Given the description of an element on the screen output the (x, y) to click on. 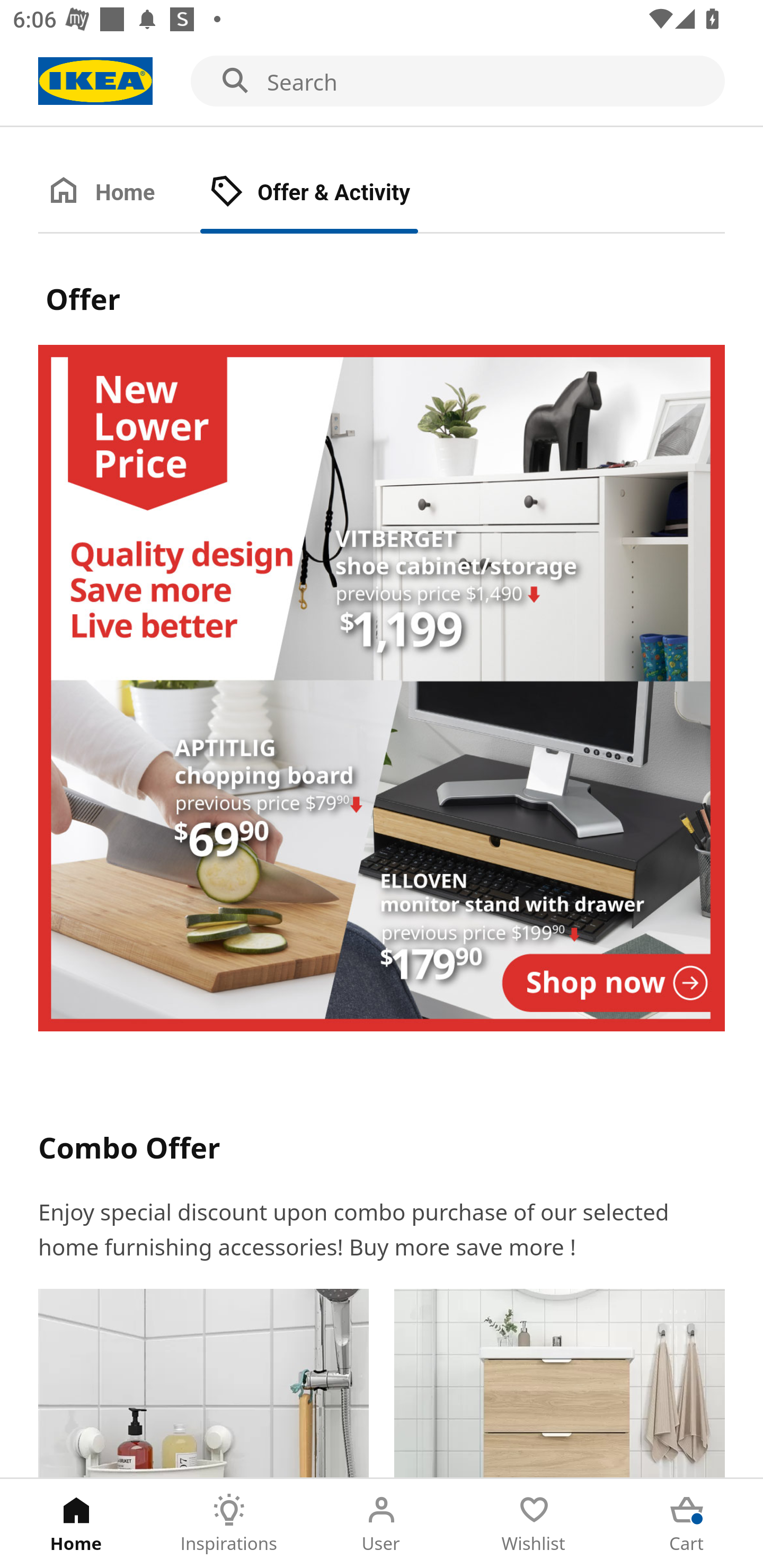
Search (381, 81)
Home
Tab 1 of 2 (118, 192)
Offer & Activity
Tab 2 of 2 (327, 192)
Home
Tab 1 of 5 (76, 1522)
Inspirations
Tab 2 of 5 (228, 1522)
User
Tab 3 of 5 (381, 1522)
Wishlist
Tab 4 of 5 (533, 1522)
Cart
Tab 5 of 5 (686, 1522)
